Given the description of an element on the screen output the (x, y) to click on. 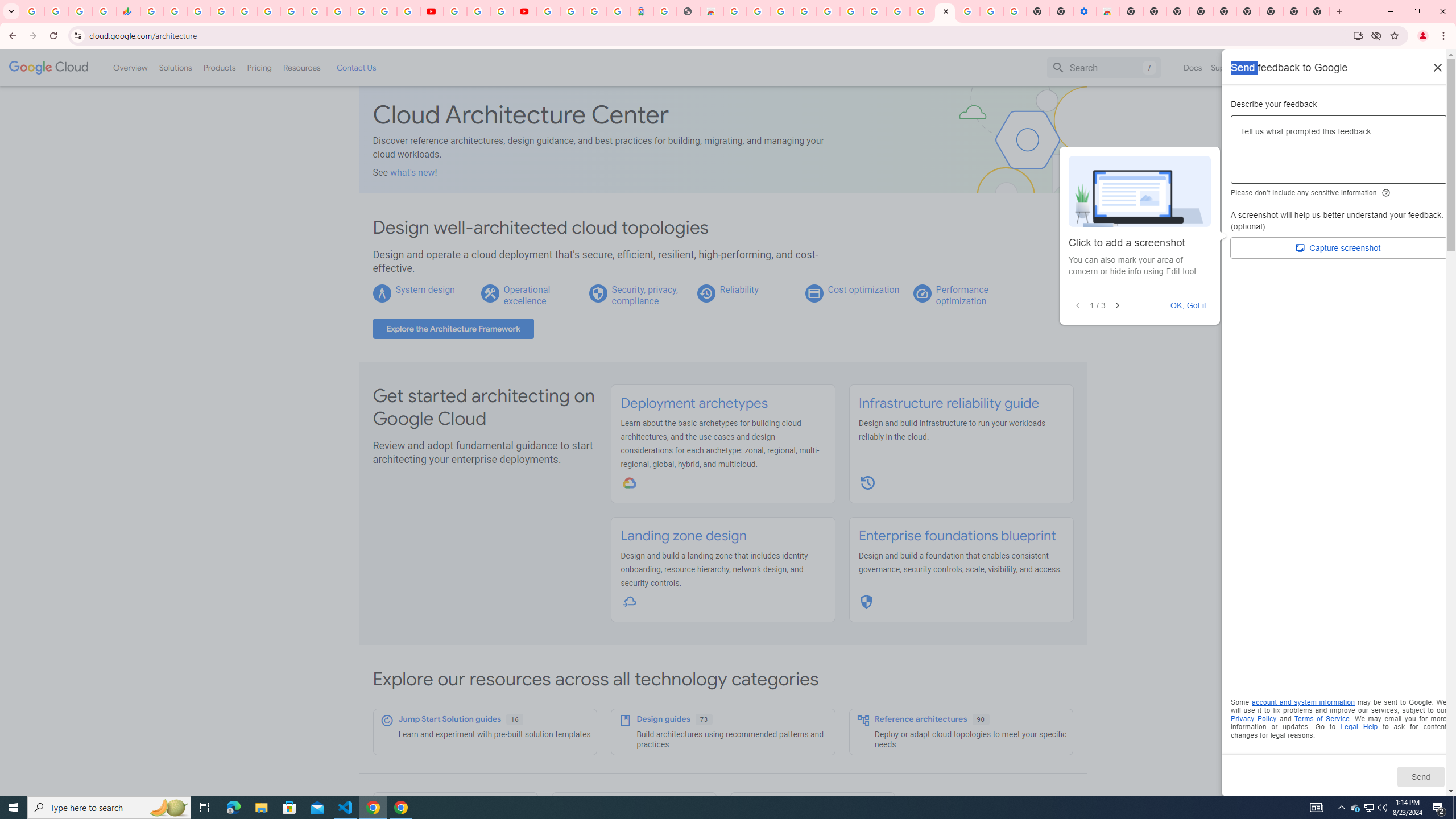
Cost optimization (863, 289)
New Tab (1271, 11)
New Tab (1318, 11)
Reliability (738, 289)
System design (424, 289)
Sign in - Google Accounts (571, 11)
Content Creator Programs & Opportunities - YouTube Creators (524, 11)
what's new (412, 172)
Chrome Web Store - Accessibility extensions (1108, 11)
